Given the description of an element on the screen output the (x, y) to click on. 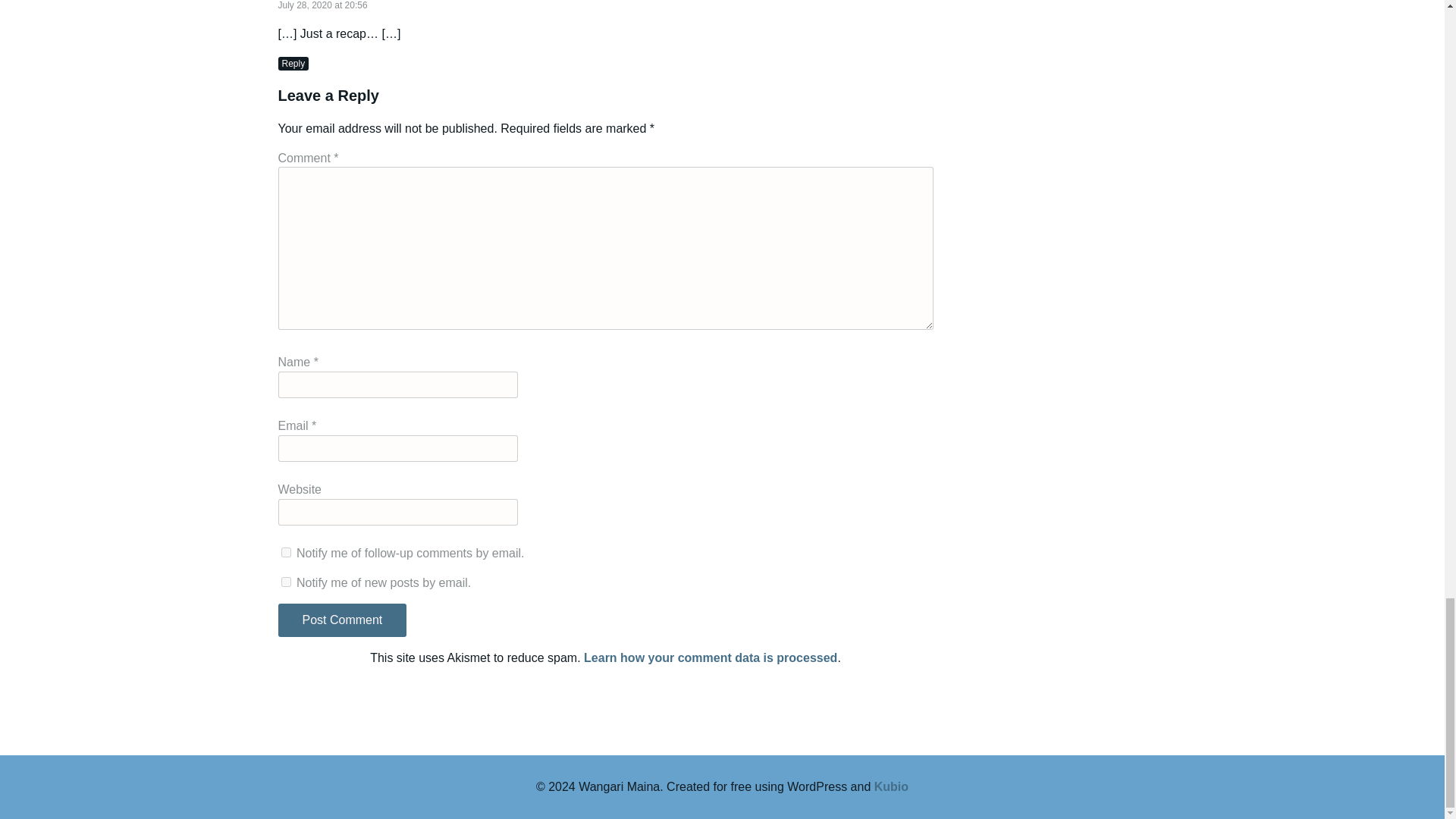
subscribe (285, 552)
subscribe (285, 582)
Post Comment (342, 620)
